Given the description of an element on the screen output the (x, y) to click on. 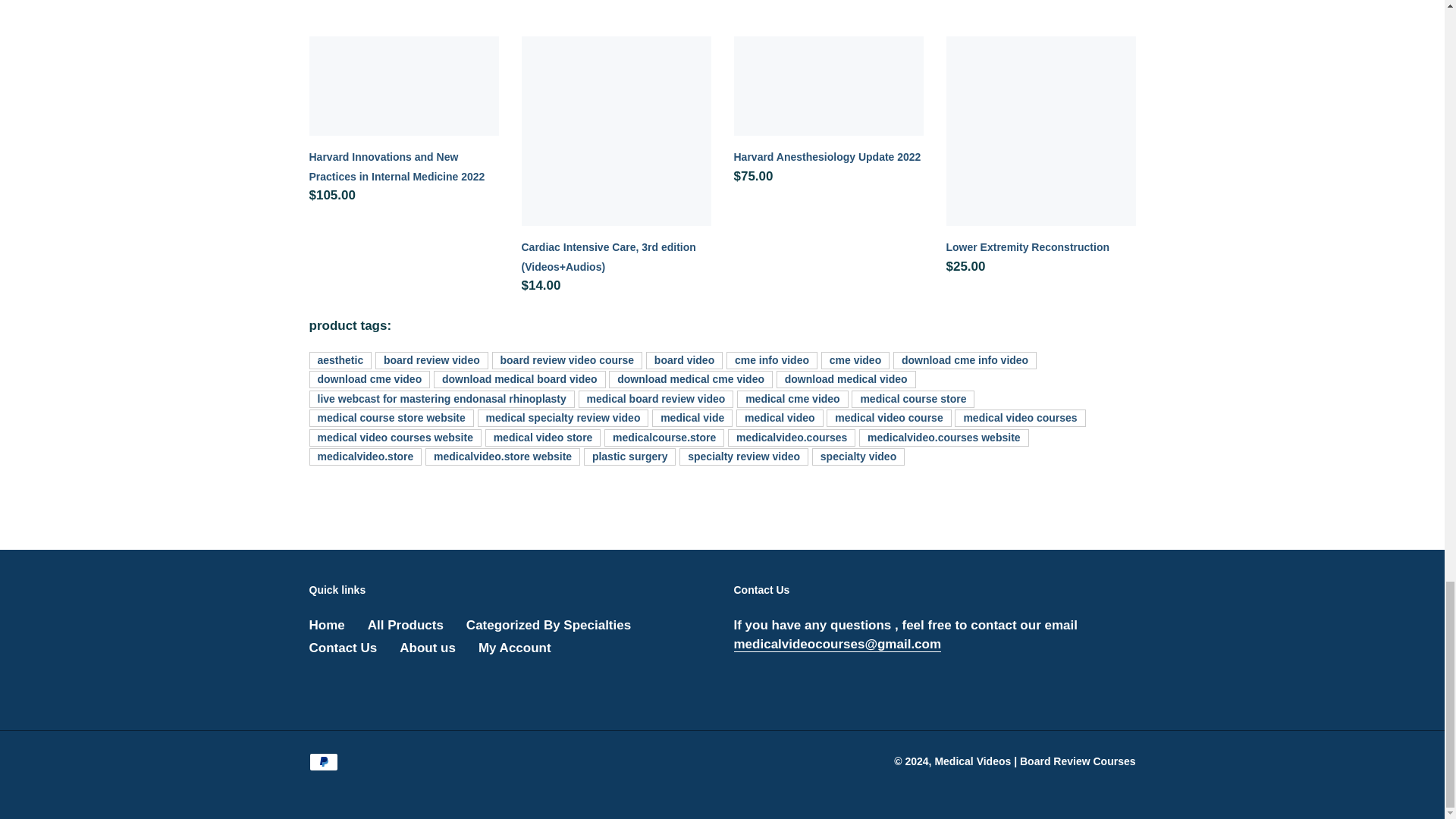
cme info video (771, 360)
Harvard Anesthesiology Update 2022 (828, 113)
board review video course (567, 360)
board review video (431, 360)
board video (684, 360)
aesthetic (340, 360)
